Given the description of an element on the screen output the (x, y) to click on. 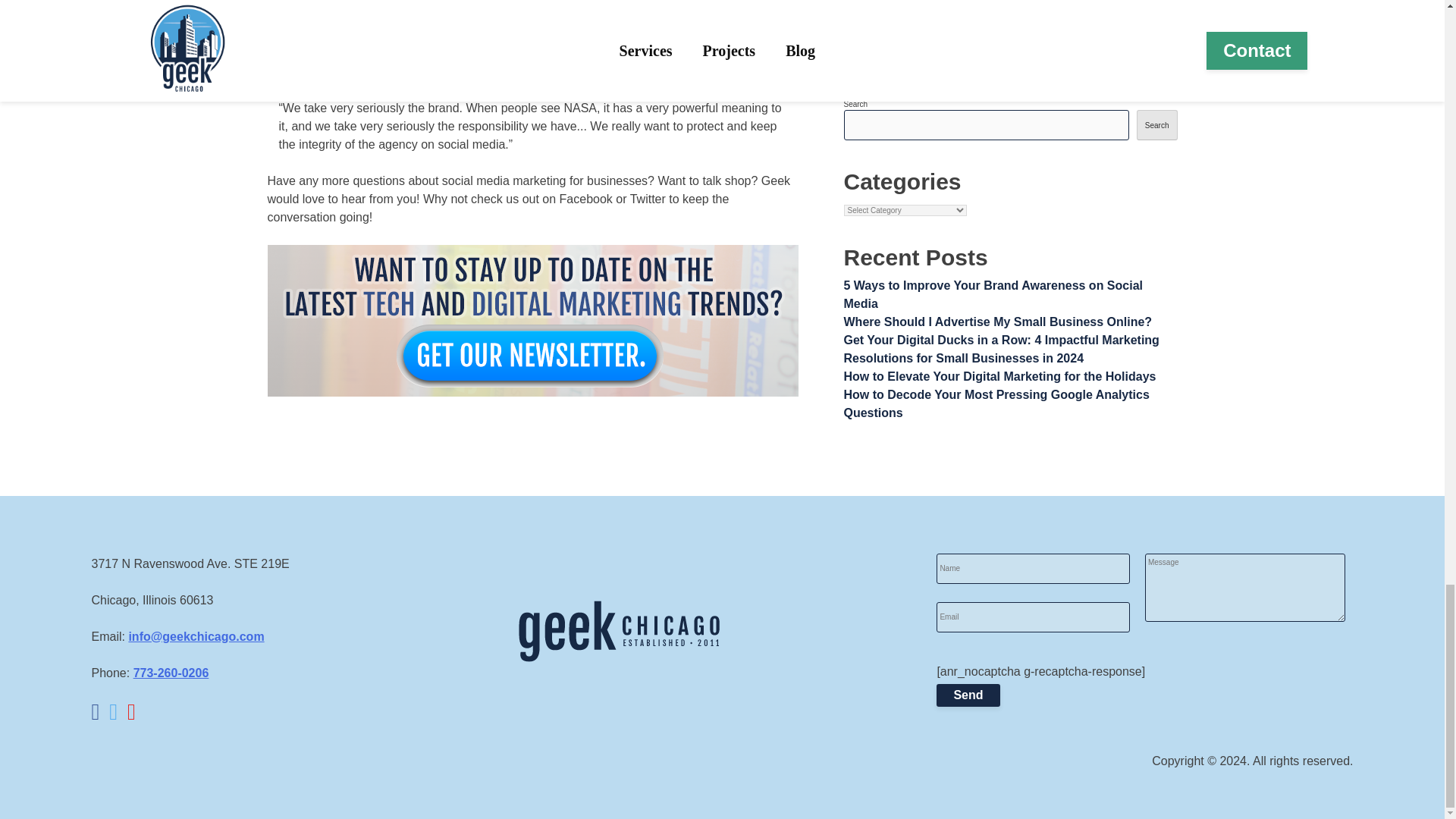
online complaints and criticism (557, 2)
matters of reputation (327, 52)
Send (967, 694)
